Given the description of an element on the screen output the (x, y) to click on. 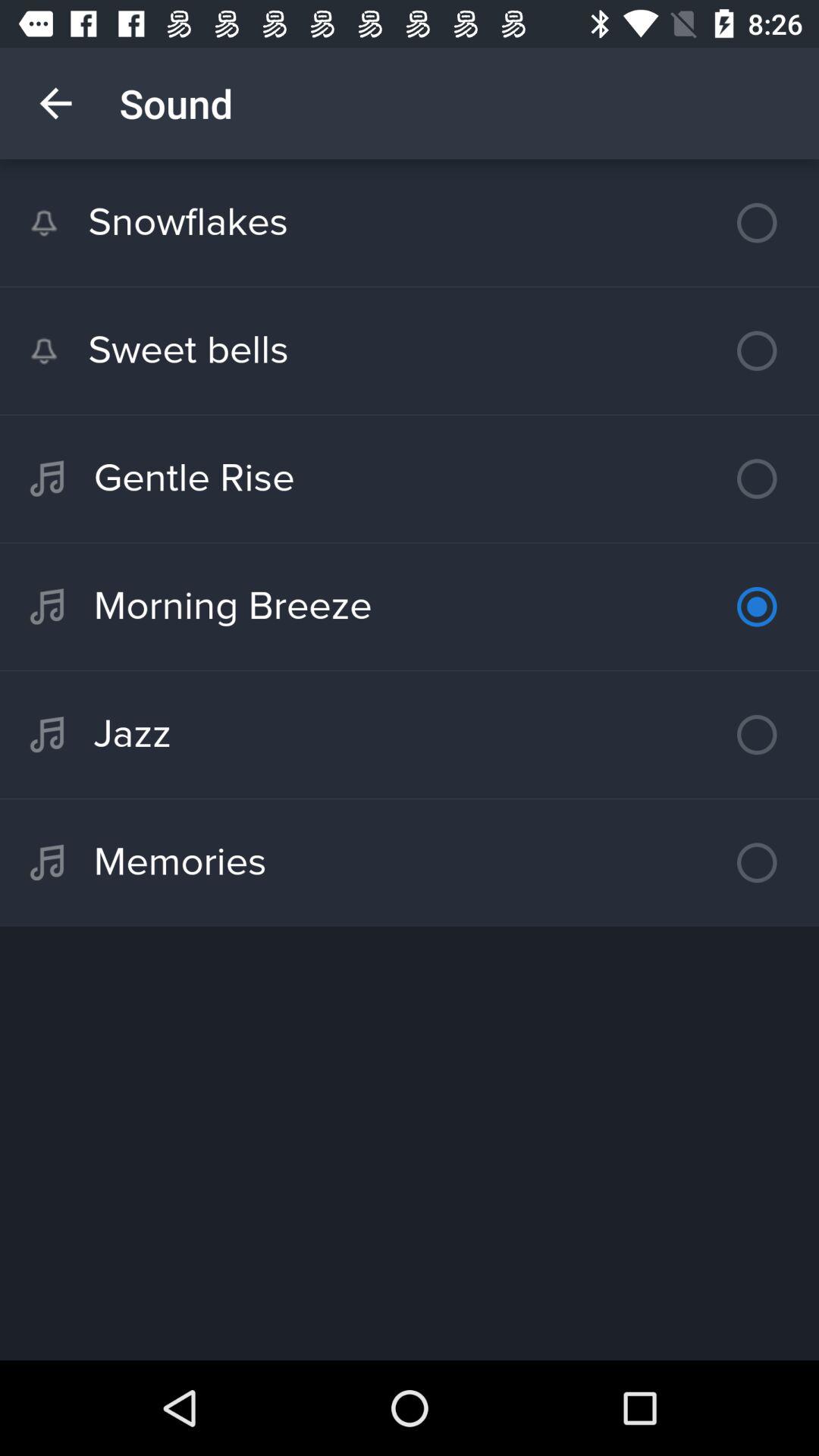
open the icon below the jazz (409, 862)
